Given the description of an element on the screen output the (x, y) to click on. 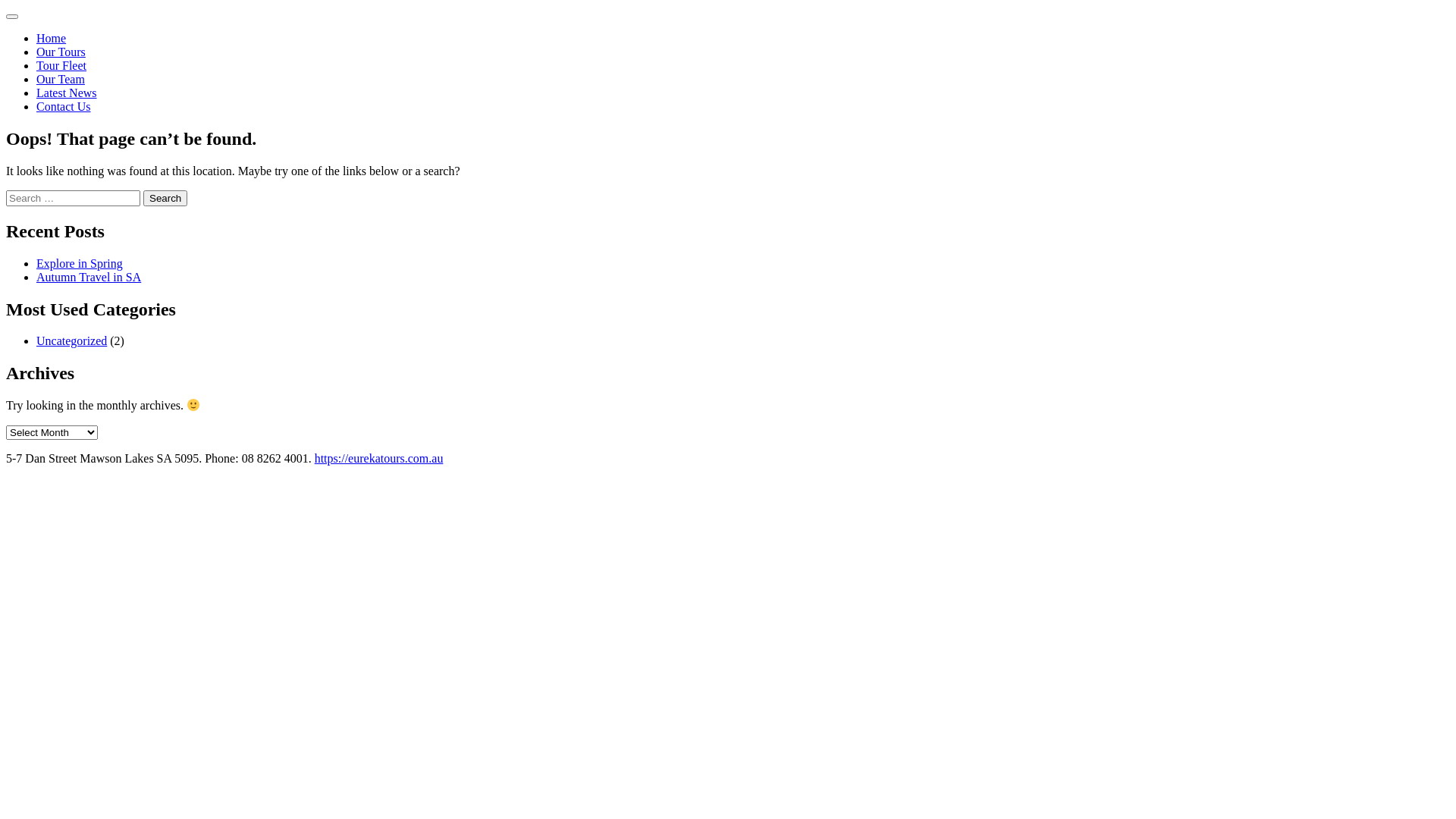
Latest News Element type: text (66, 92)
https://eurekatours.com.au Element type: text (378, 457)
Our Team Element type: text (60, 78)
Contact Us Element type: text (63, 106)
Search Element type: text (165, 198)
Uncategorized Element type: text (71, 340)
Our Tours Element type: text (60, 51)
Home Element type: text (50, 37)
Tour Fleet Element type: text (61, 65)
Explore in Spring Element type: text (79, 263)
Autumn Travel in SA Element type: text (88, 276)
